Given the description of an element on the screen output the (x, y) to click on. 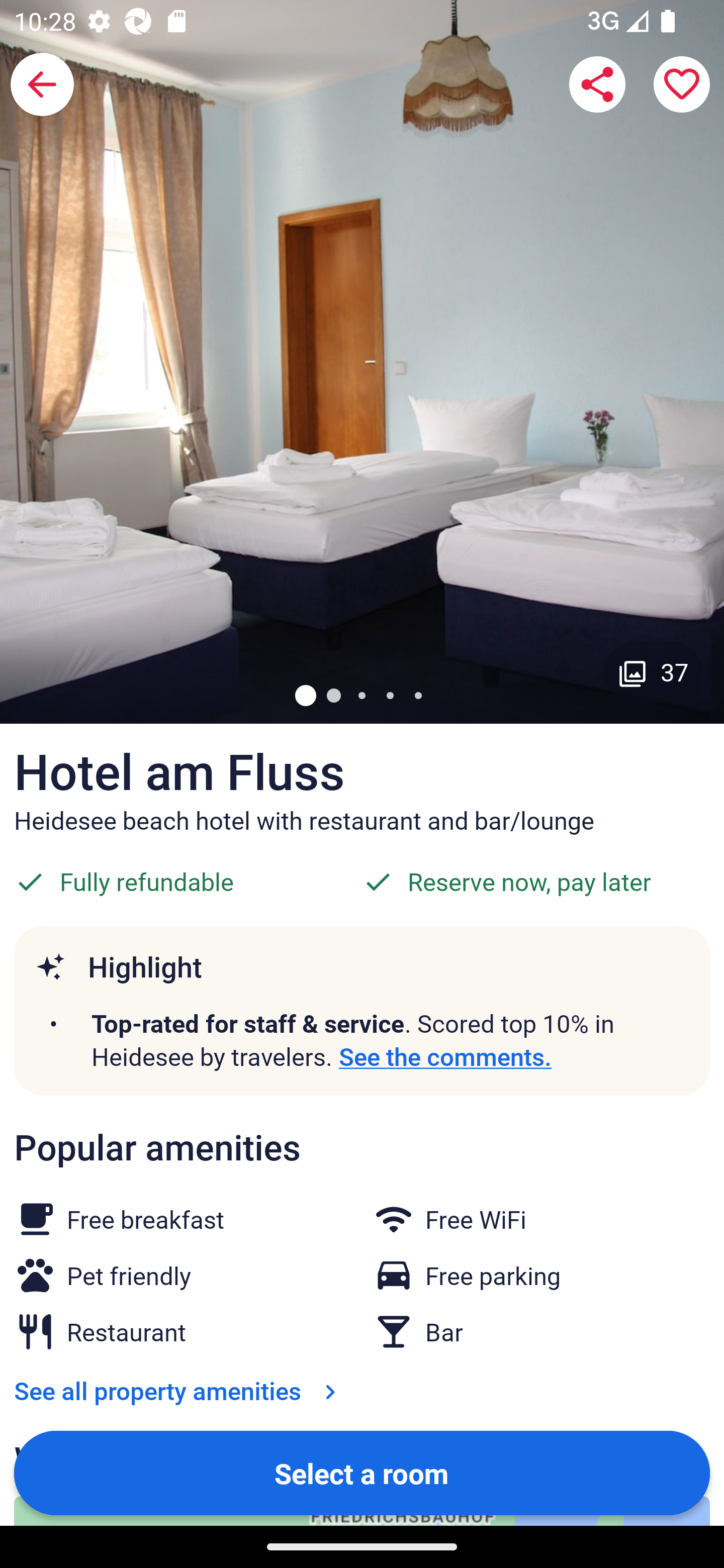
Back (42, 84)
Save property to a trip (681, 84)
Share Hotel am Fluss (597, 84)
Gallery button with 37 images (653, 671)
See all property amenities (178, 1390)
Select a room Button Select a room (361, 1472)
